Given the description of an element on the screen output the (x, y) to click on. 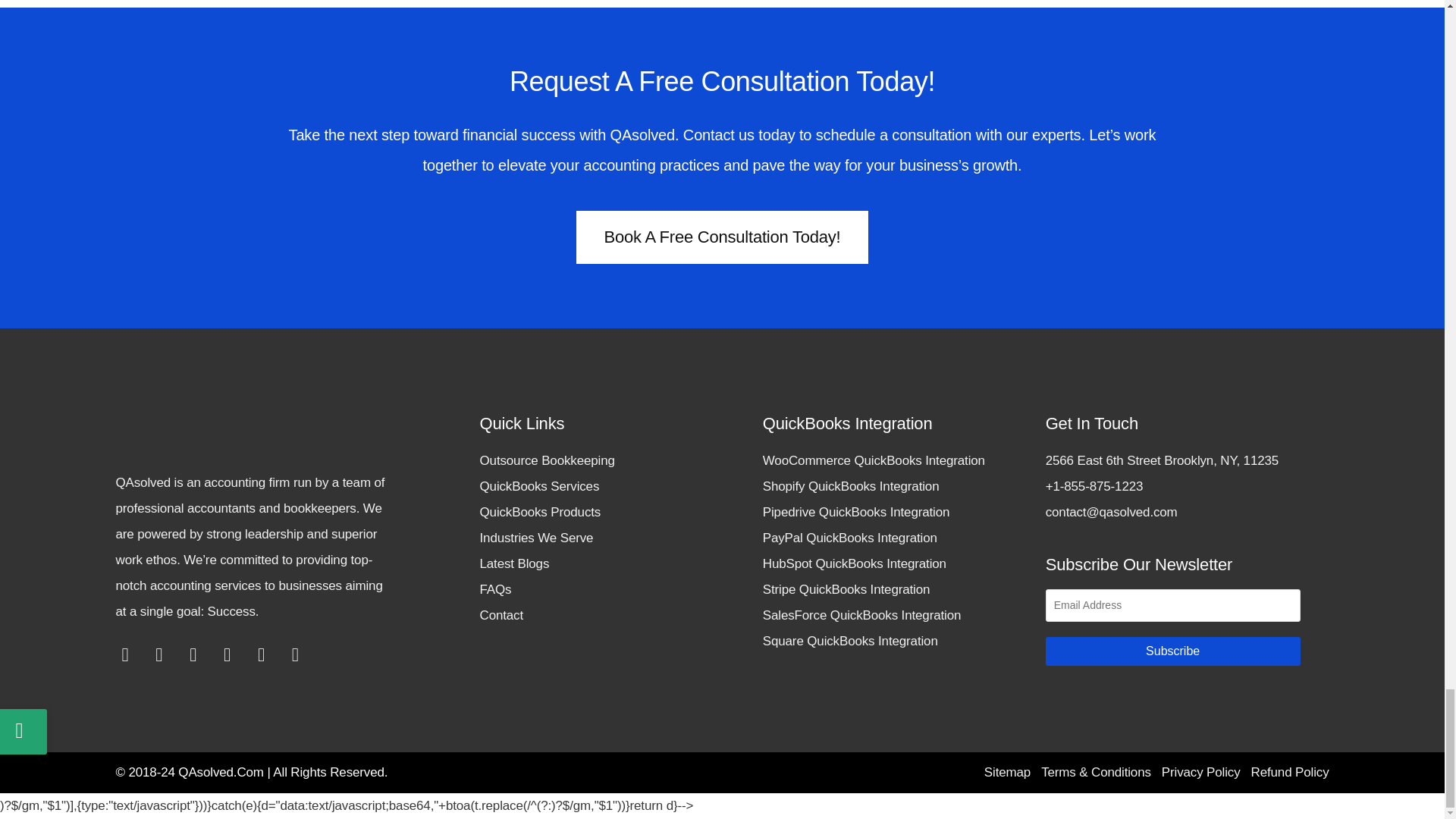
Subscribe (1172, 651)
